Given the description of an element on the screen output the (x, y) to click on. 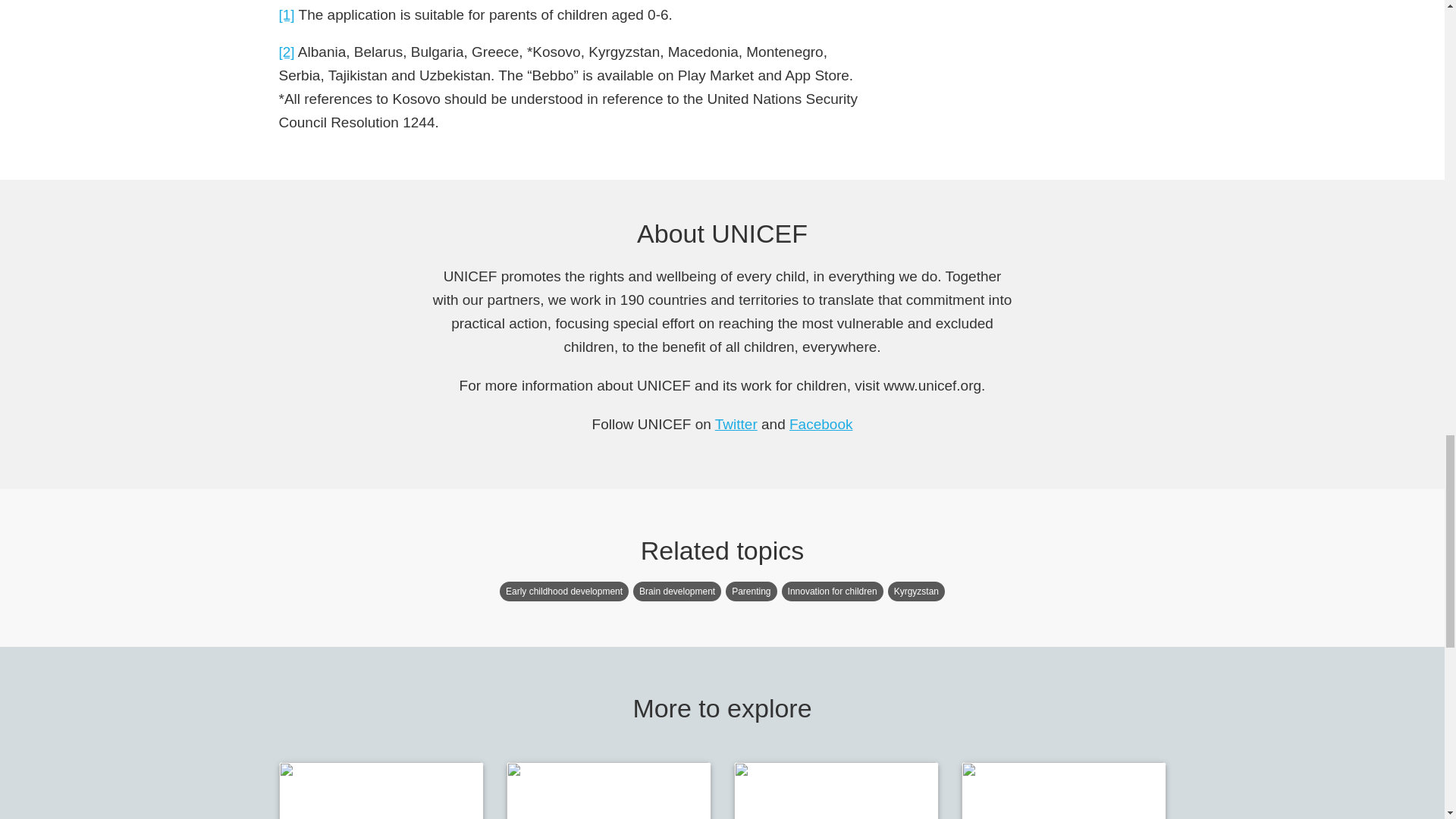
Early childhood development (563, 591)
Parenting (750, 591)
Twitter (735, 424)
Brain development (676, 591)
Facebook (820, 424)
